Given the description of an element on the screen output the (x, y) to click on. 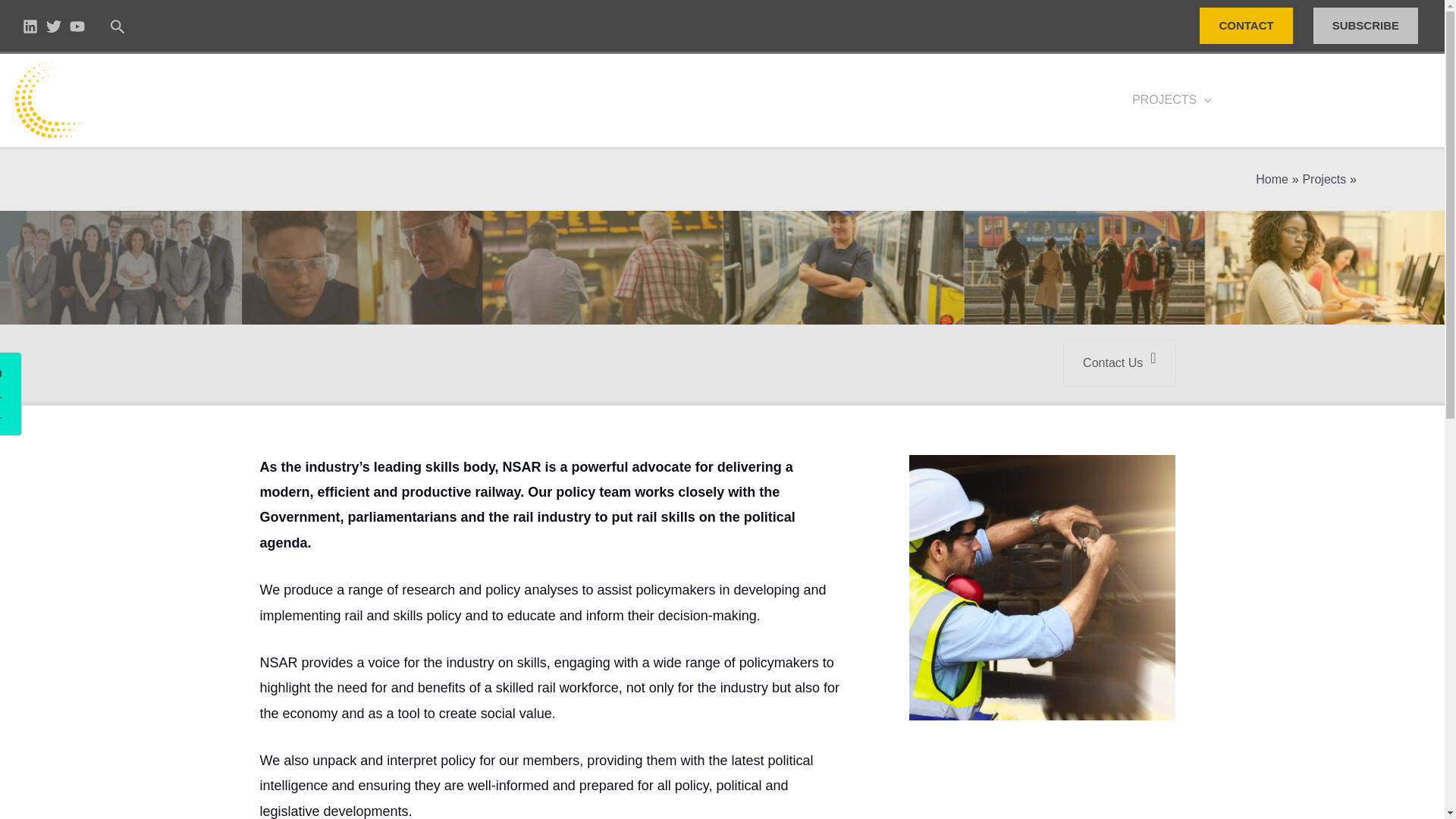
SUBSCRIBE (1368, 25)
Contact (27, 377)
PROJECTS (1171, 99)
ABOUT US (847, 99)
MEMBERSHIP (1058, 99)
CONTACT (1245, 25)
SERVICES (948, 99)
